Given the description of an element on the screen output the (x, y) to click on. 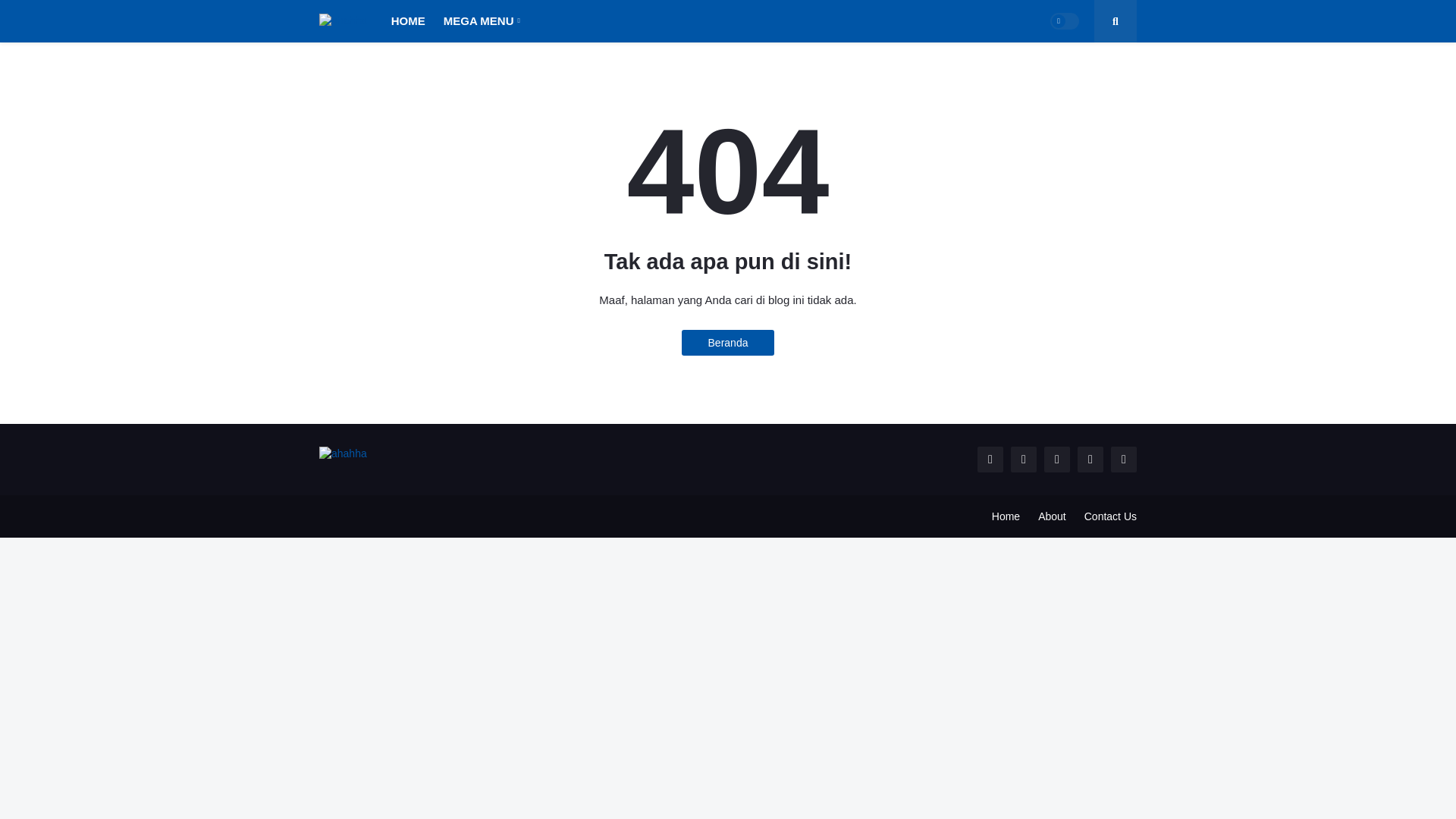
MEGA MENU (481, 21)
HOME (407, 21)
Beranda (727, 342)
